Given the description of an element on the screen output the (x, y) to click on. 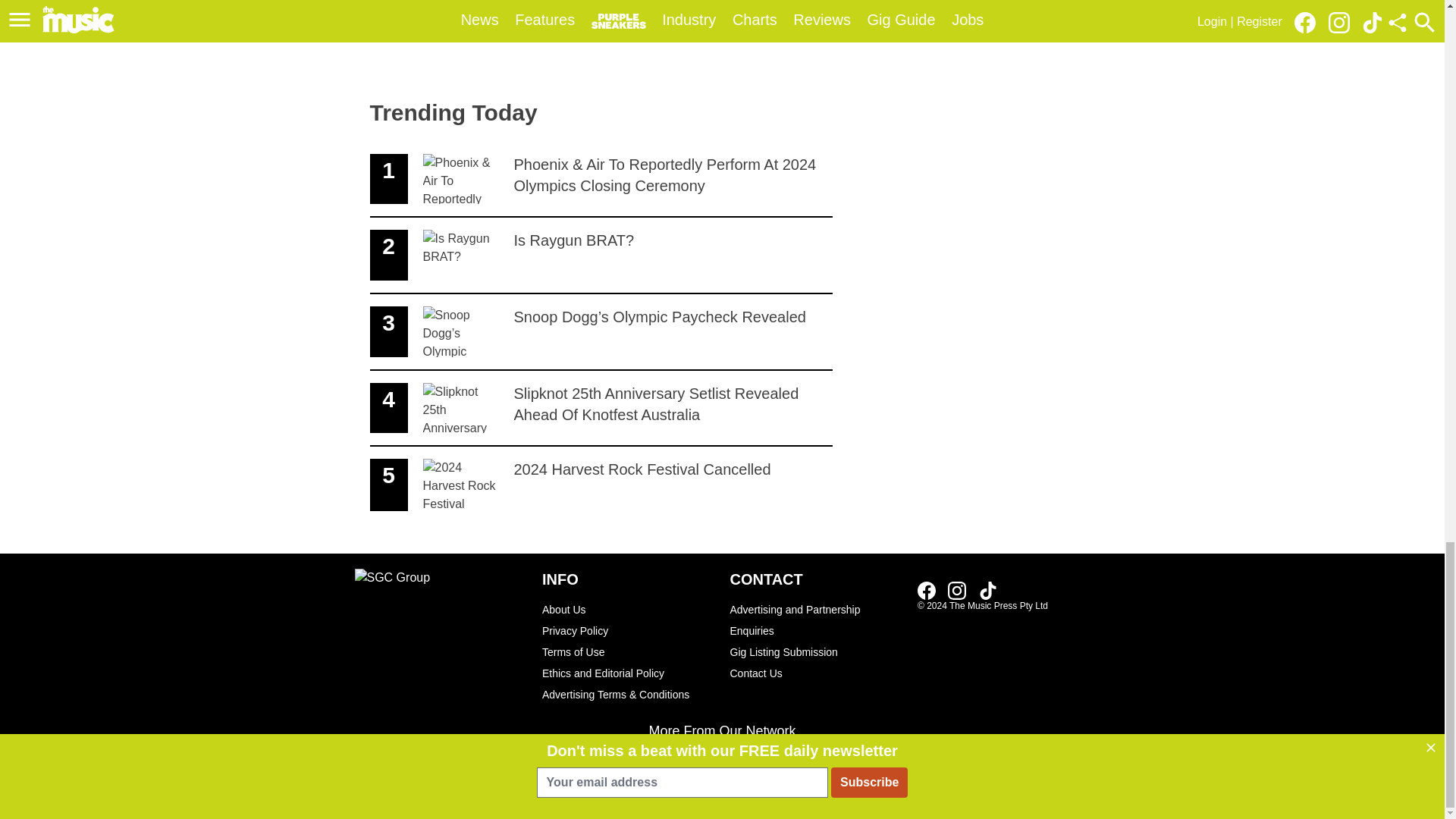
Ethics and Editorial Policy (627, 672)
Link to our Instagram (956, 590)
Link to our TikTok (987, 590)
Terms of Use (600, 484)
Advertising and Partnership Enquiries (627, 651)
Link to our Facebook (600, 255)
Gig Listing Submission (815, 619)
